Given the description of an element on the screen output the (x, y) to click on. 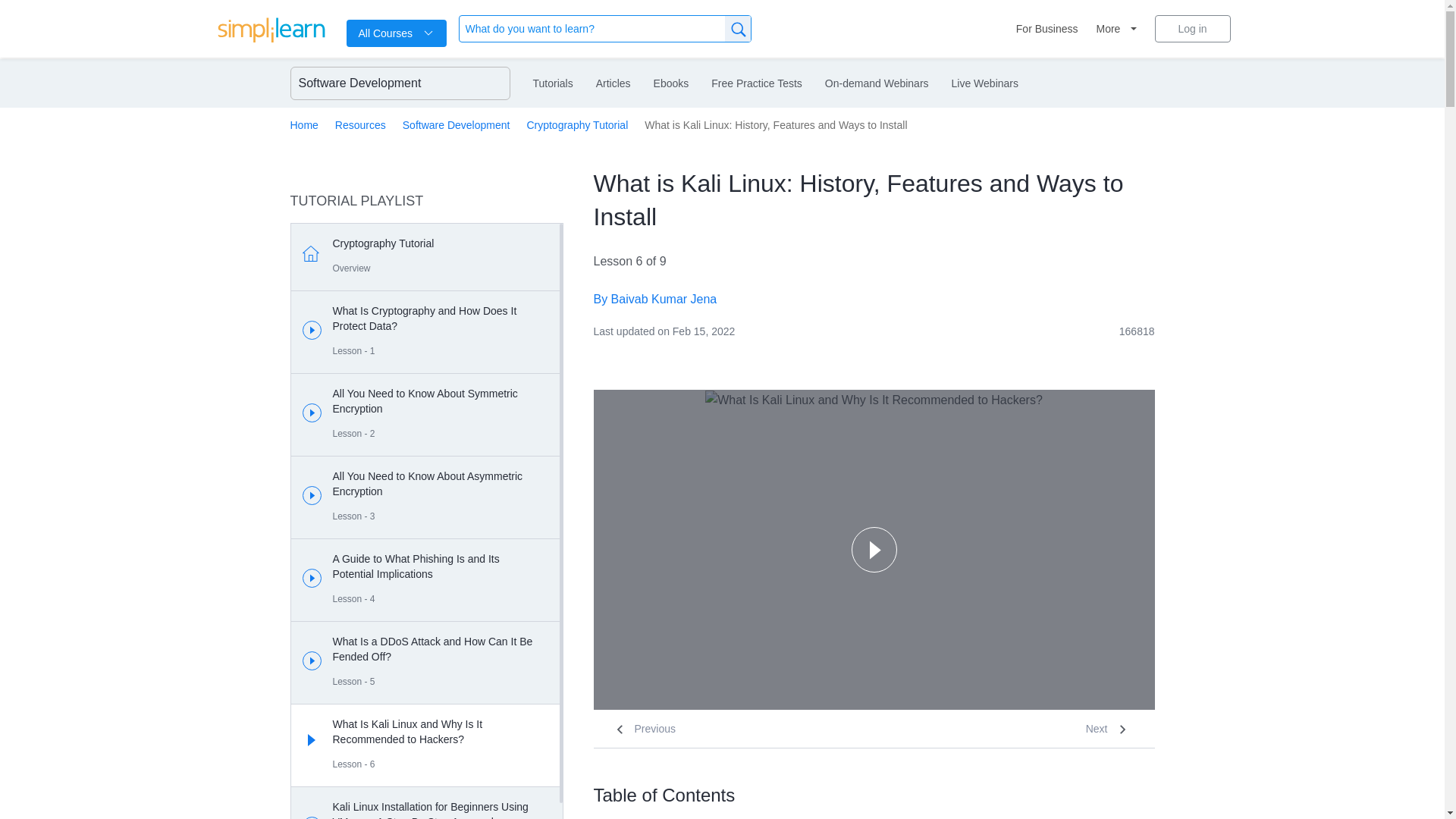
Log in (1192, 28)
Log in (1192, 28)
More (1116, 28)
Simplilearn - Online Certification Training Course Provider (270, 32)
Simplilearn - Online Certification Training Course Provider (270, 28)
For Business (1047, 28)
Simplilearn for Business (1047, 28)
All Courses (395, 32)
search (738, 28)
